Given the description of an element on the screen output the (x, y) to click on. 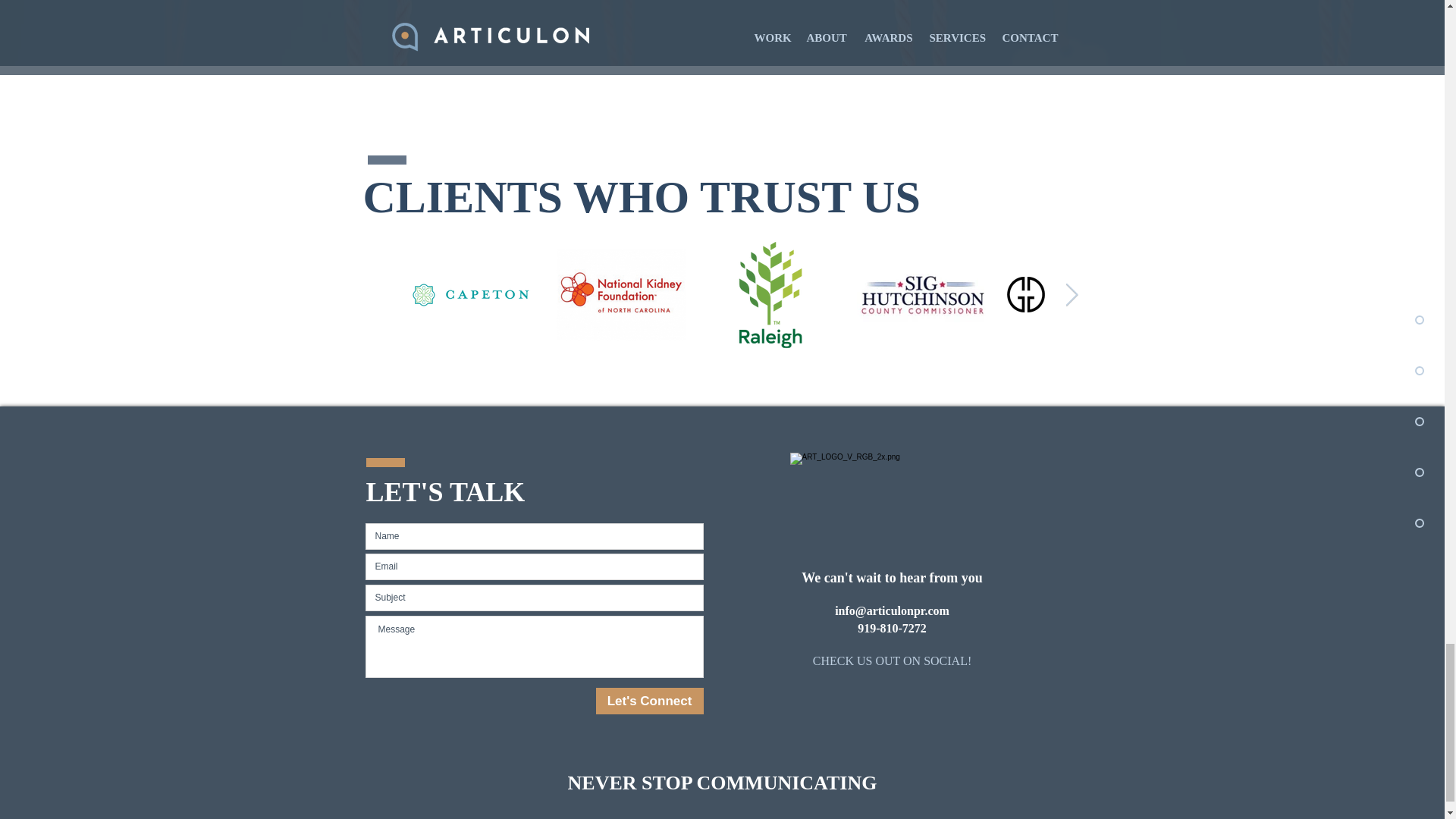
Let's Connect (649, 700)
